Given the description of an element on the screen output the (x, y) to click on. 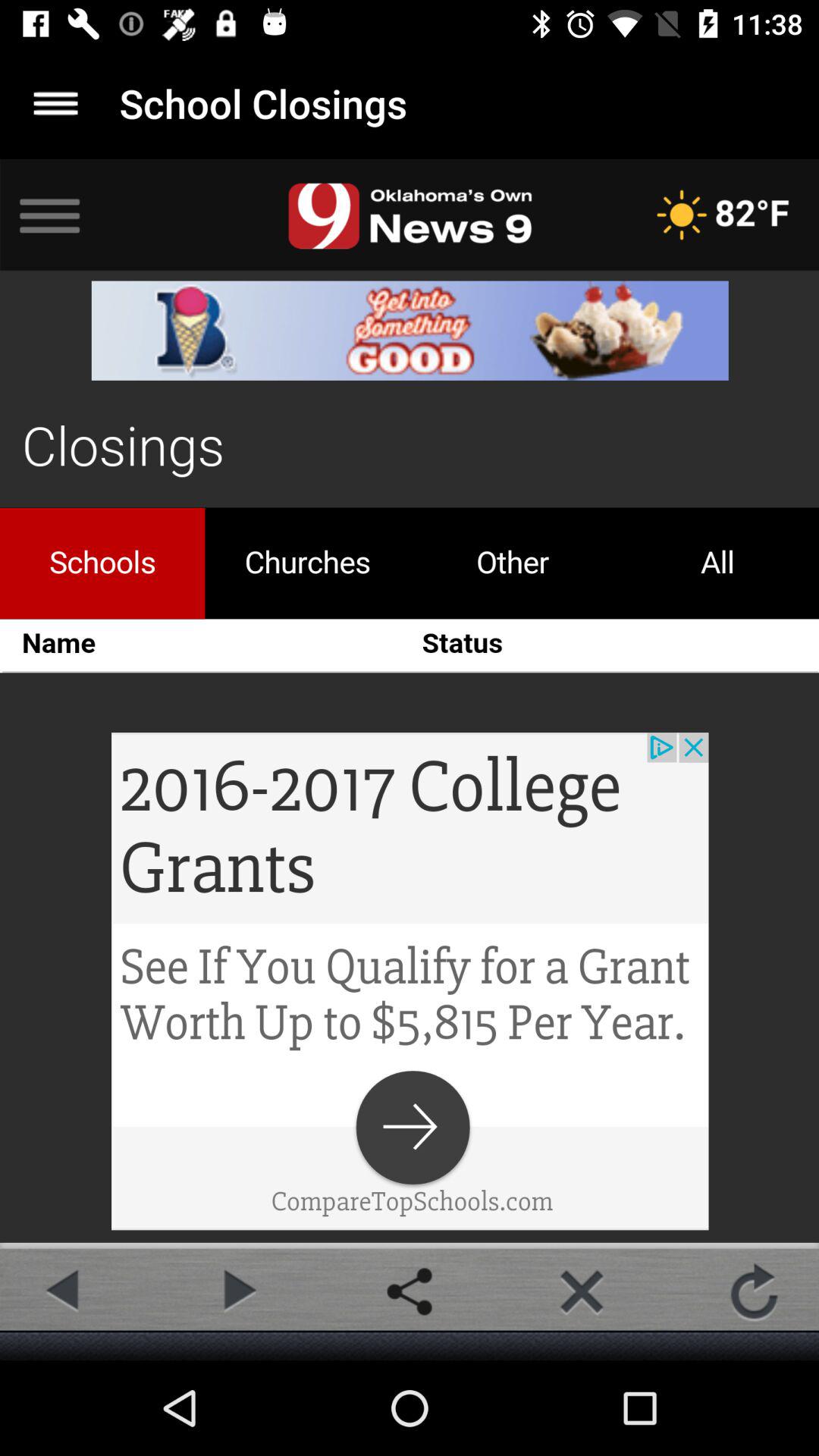
close the page option (581, 1291)
